Given the description of an element on the screen output the (x, y) to click on. 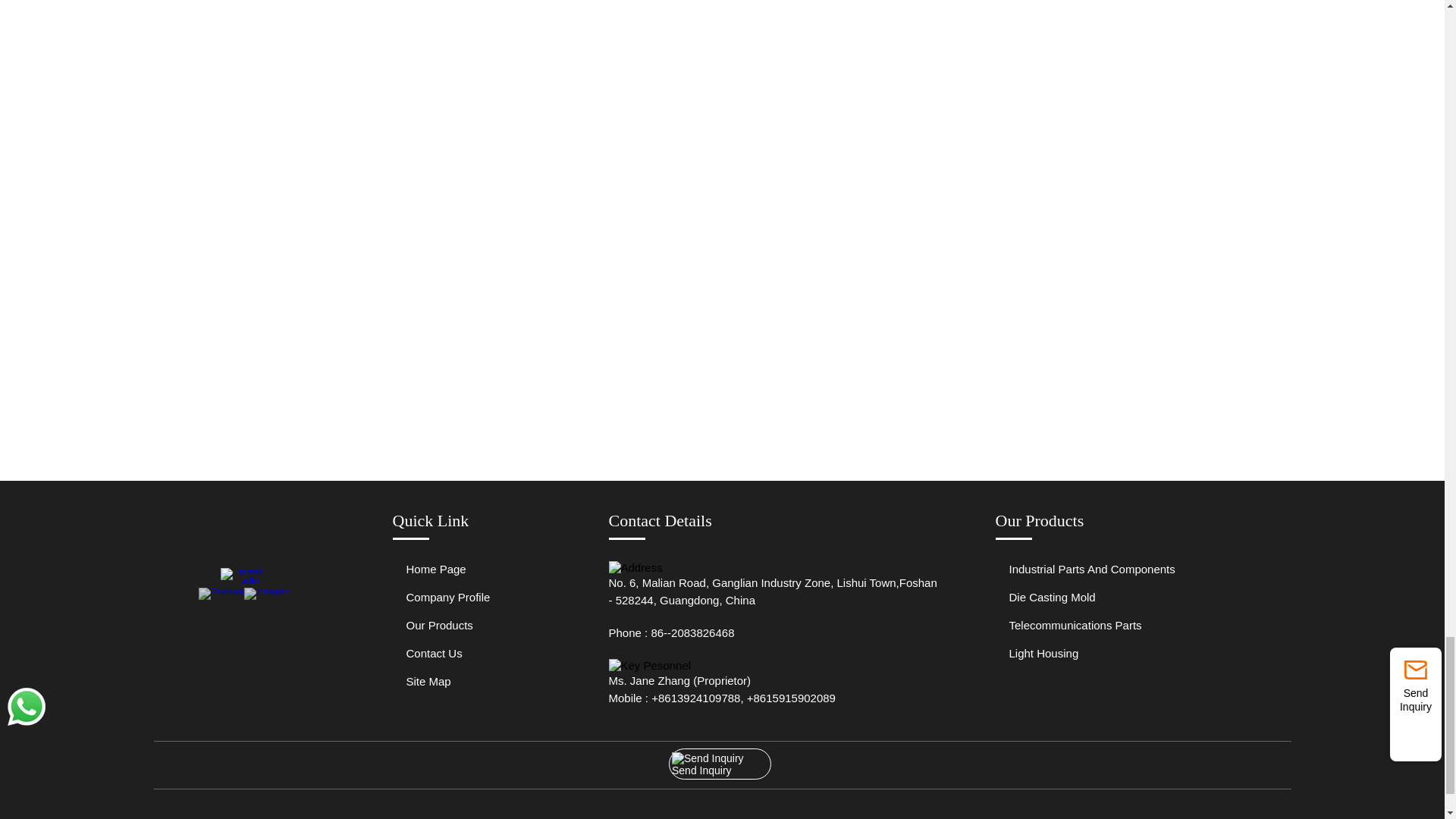
Instagram (266, 592)
Facebook (221, 592)
Address (635, 567)
Key Personnel (649, 665)
